Given the description of an element on the screen output the (x, y) to click on. 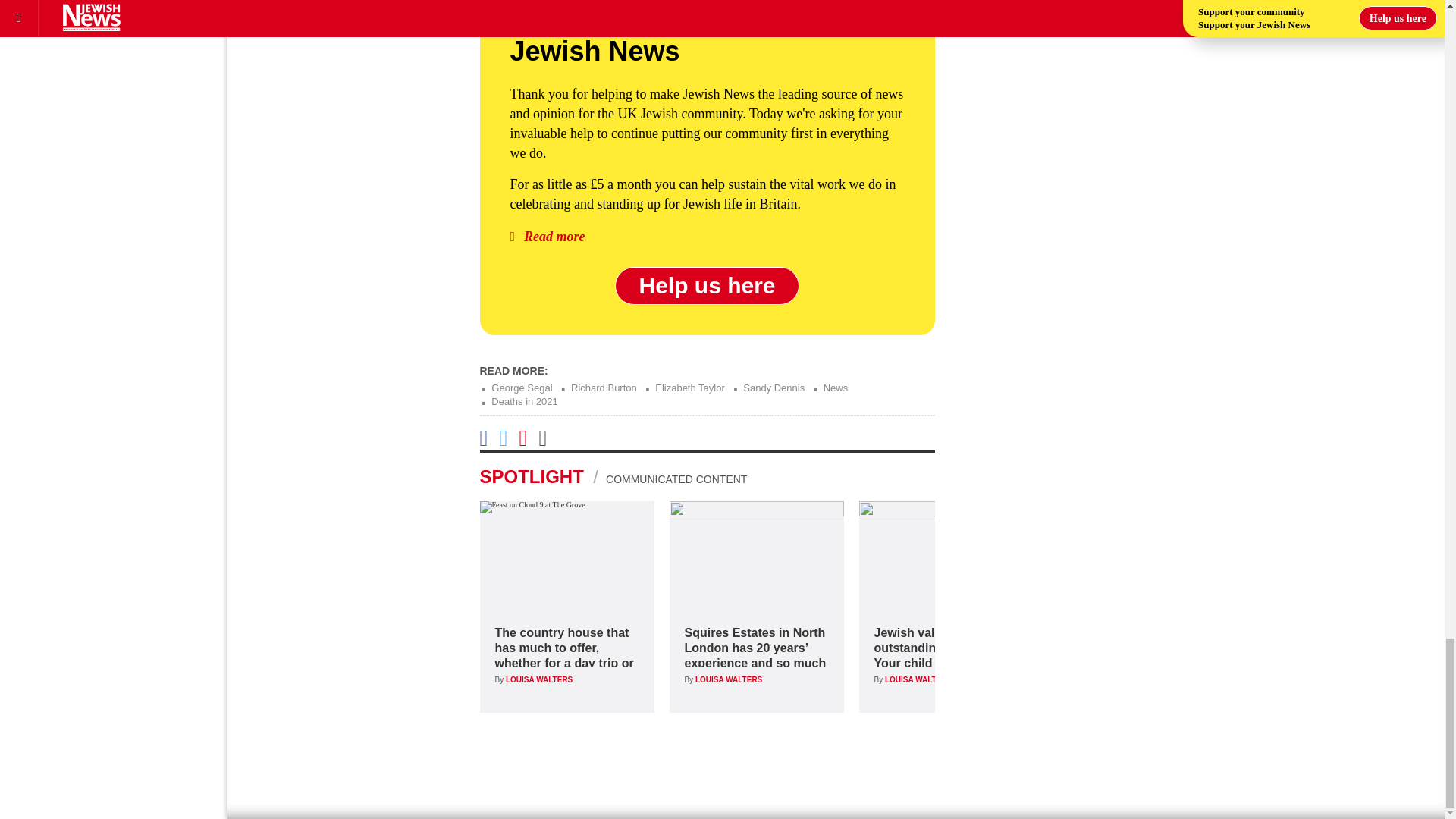
Feast on Cloud 9 at The Grove (566, 555)
Louisa Walters (728, 679)
Louisa Walters (918, 679)
Louisa Walters (538, 679)
